Given the description of an element on the screen output the (x, y) to click on. 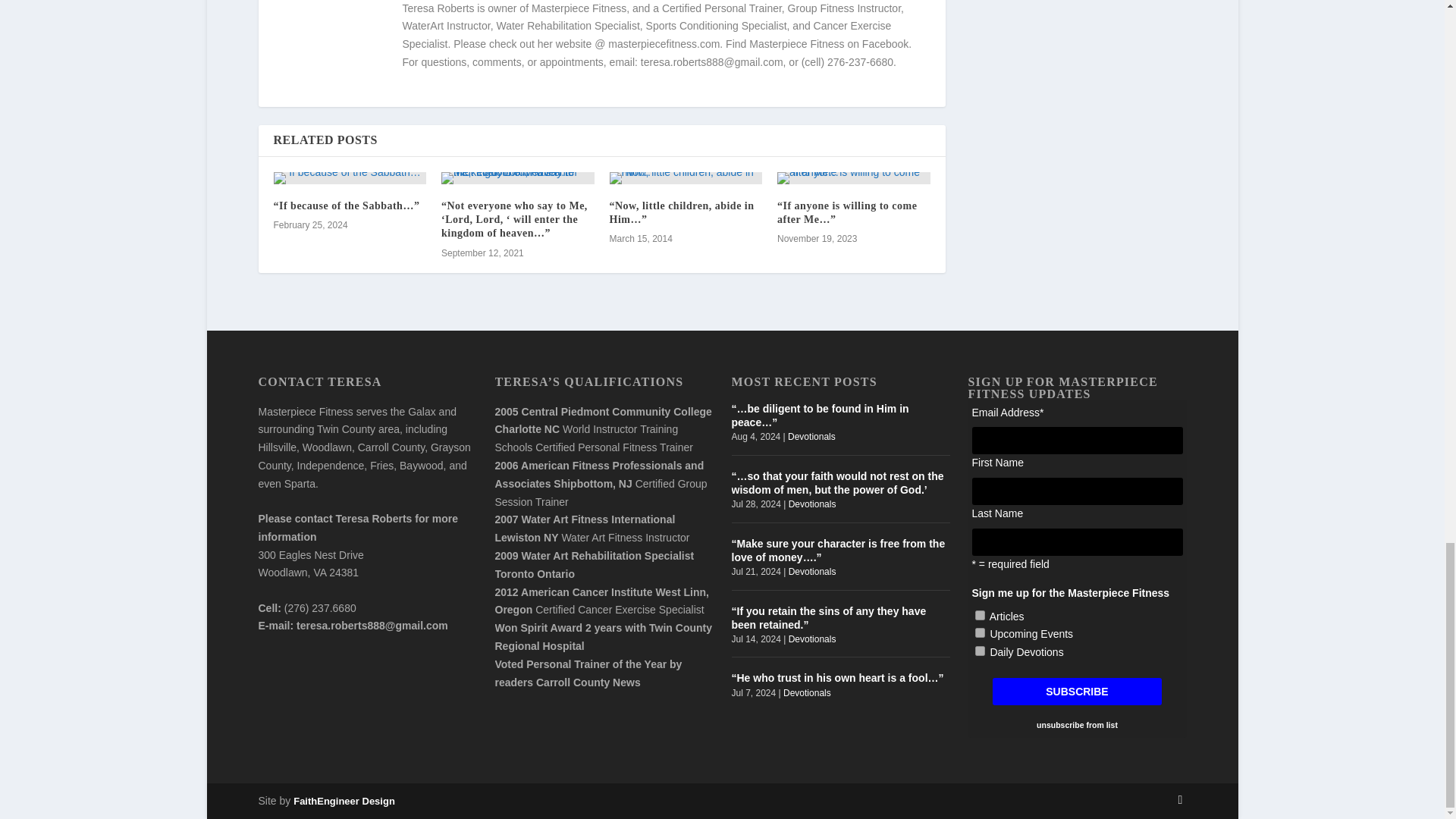
Articles (980, 614)
Upcoming Events (980, 633)
Daily Devotions (980, 651)
